Given the description of an element on the screen output the (x, y) to click on. 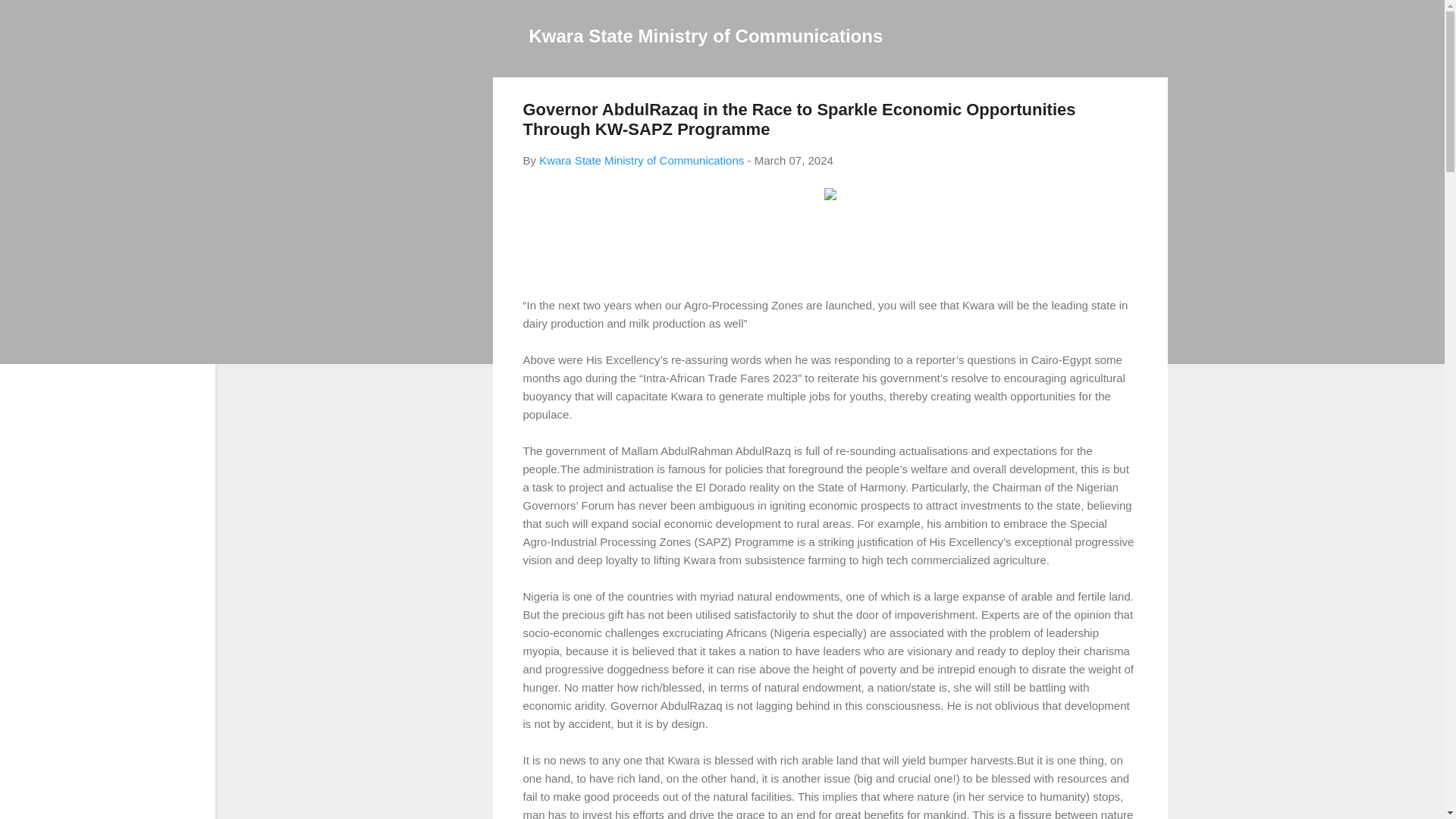
Kwara State Ministry of Communications (641, 160)
Kwara State Ministry of Communications (706, 35)
Search (29, 18)
March 07, 2024 (793, 160)
permanent link (793, 160)
author profile (641, 160)
